Given the description of an element on the screen output the (x, y) to click on. 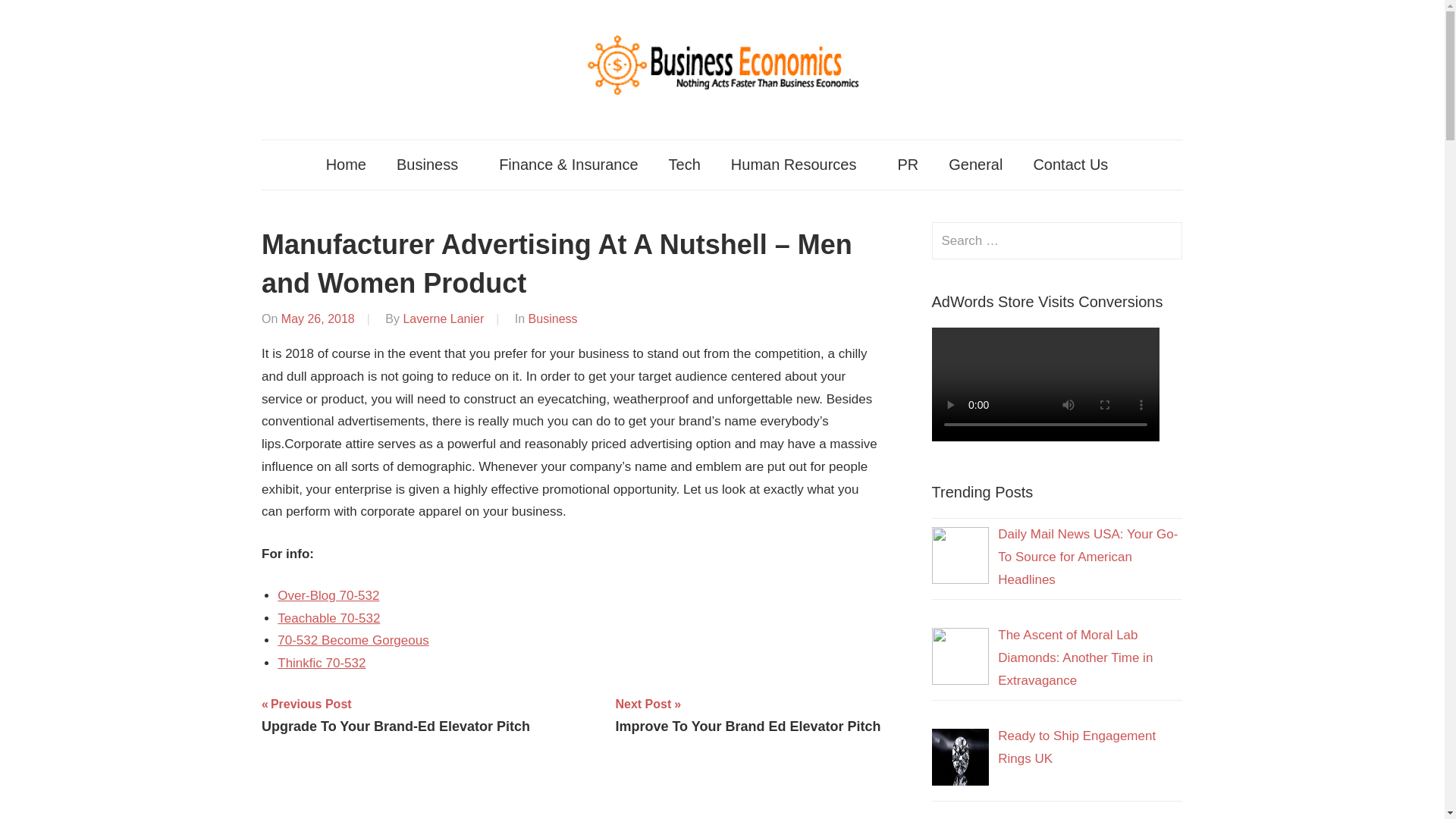
Contact Us (1075, 164)
Laverne Lanier (443, 318)
General (975, 164)
Business (432, 164)
Human Resources (395, 714)
Search for: (799, 164)
Home (1056, 240)
View all posts by Laverne Lanier (346, 164)
Thinkfic 70-532 (443, 318)
